Given the description of an element on the screen output the (x, y) to click on. 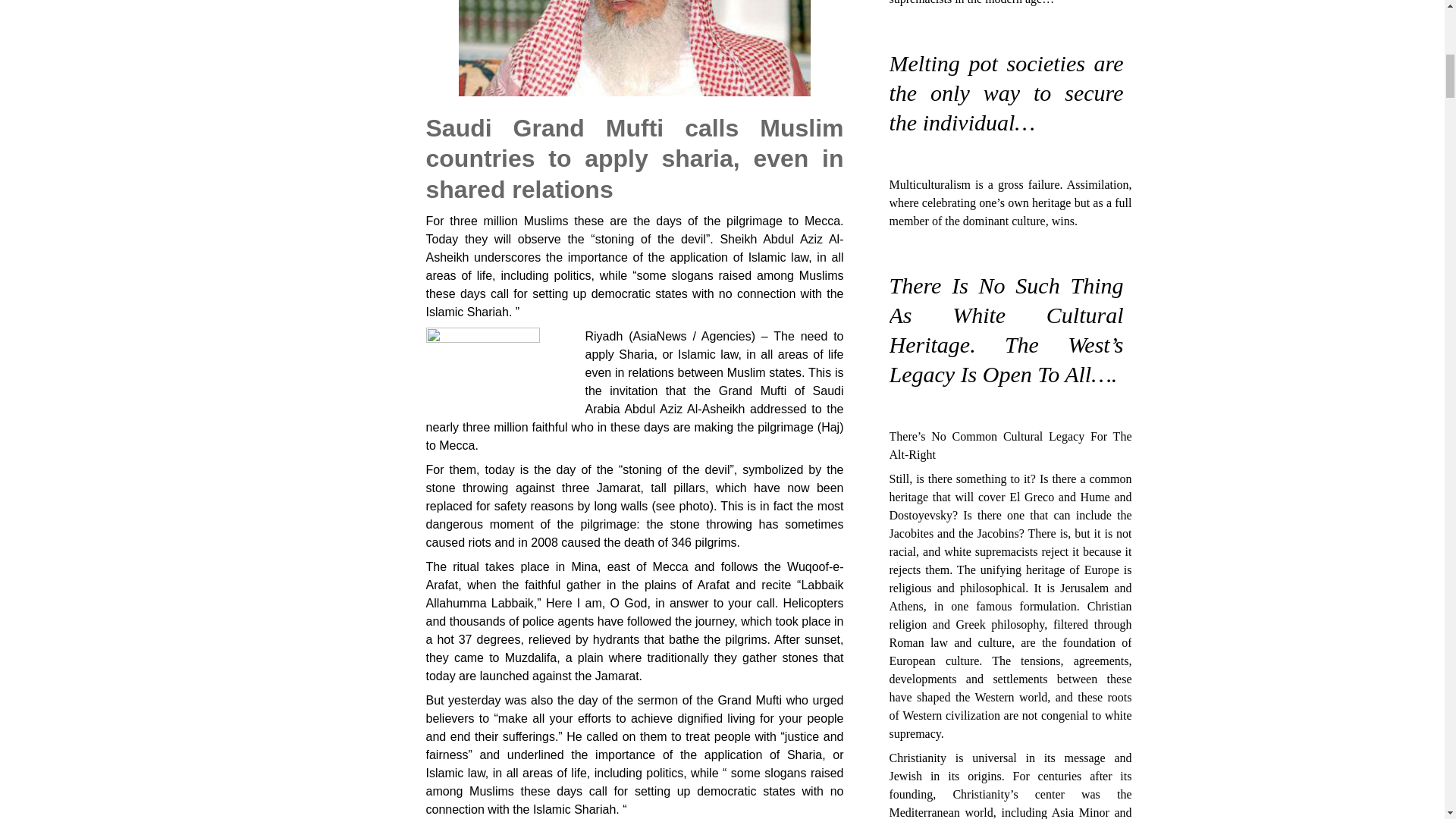
saudi Grand-Mufti-Sheikh-Abdul-Aziz-Al-Asheikh (634, 48)
